Given the description of an element on the screen output the (x, y) to click on. 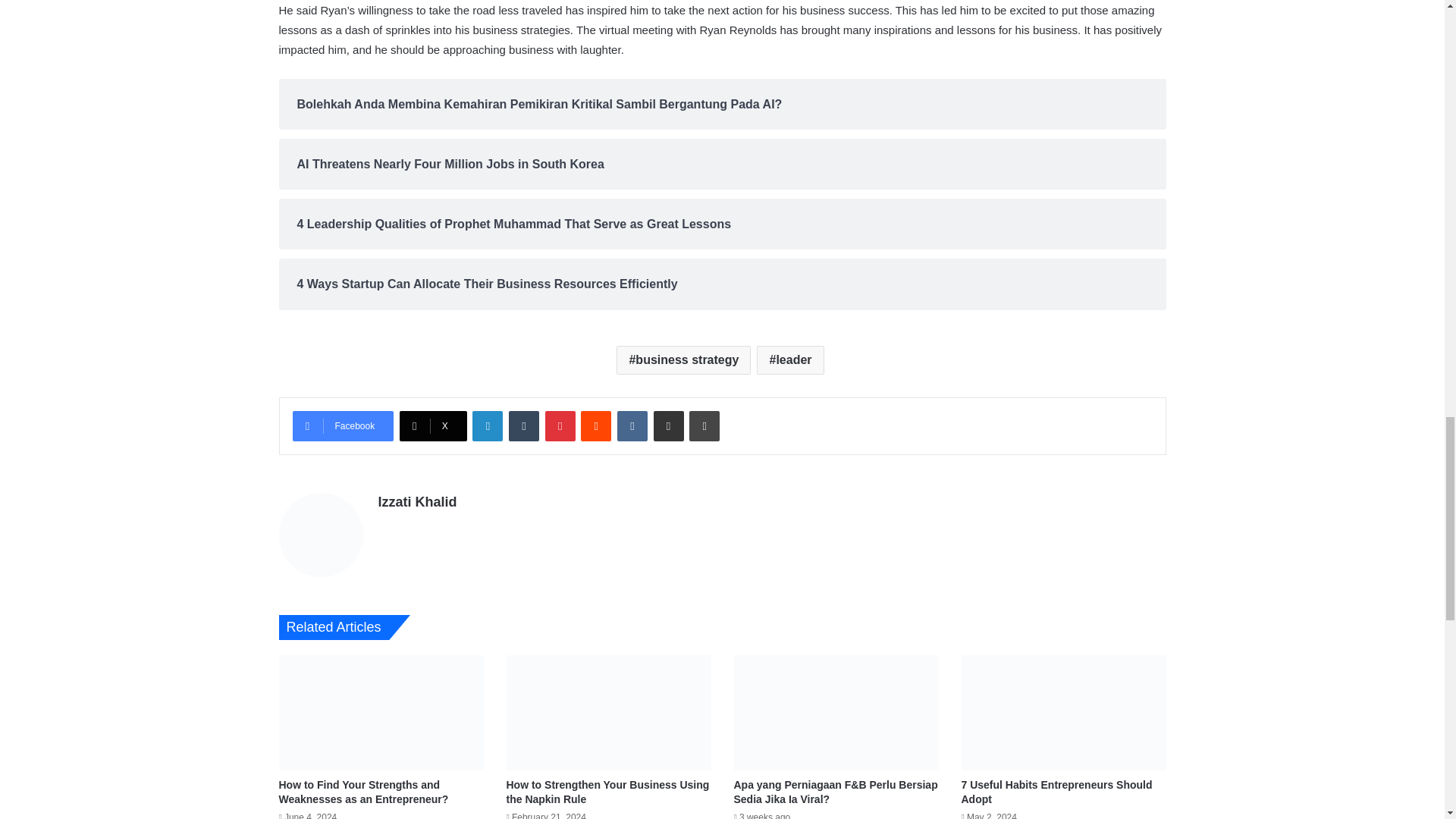
Facebook (343, 426)
X (432, 426)
business strategy (683, 359)
LinkedIn (486, 426)
Pinterest (559, 426)
AI Threatens Nearly Four Million Jobs in South Korea (722, 164)
Tumblr (523, 426)
Reddit (595, 426)
Facebook (343, 426)
leader (790, 359)
